Given the description of an element on the screen output the (x, y) to click on. 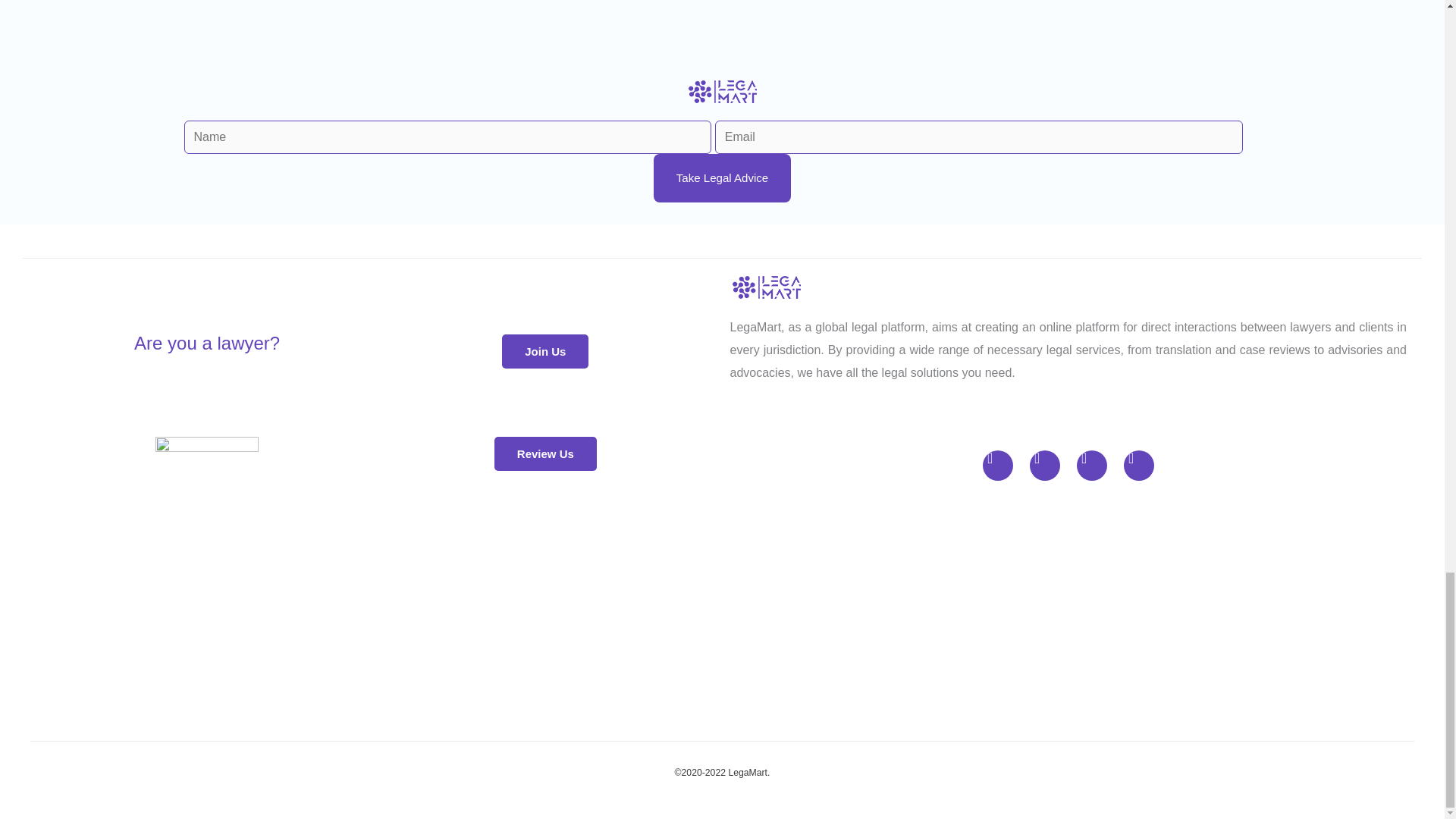
Take Legal Advice (721, 177)
Review Us (545, 453)
Take Legal Advice (721, 177)
Join Us (545, 351)
